Given the description of an element on the screen output the (x, y) to click on. 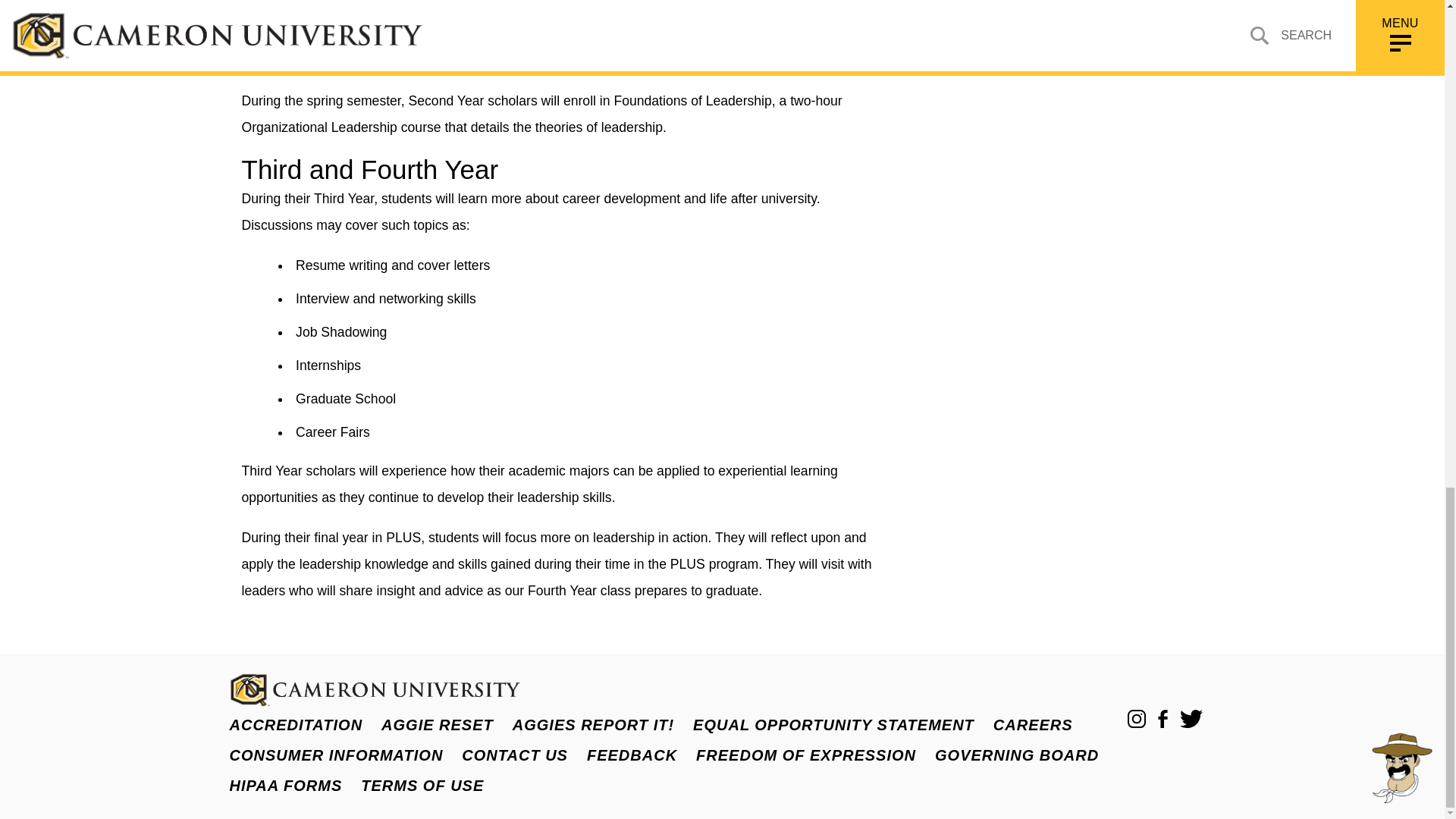
Cameron University Instagram Page (1135, 719)
Cameron University Homepage (373, 702)
Cameron University Twitter Page (1190, 719)
